Given the description of an element on the screen output the (x, y) to click on. 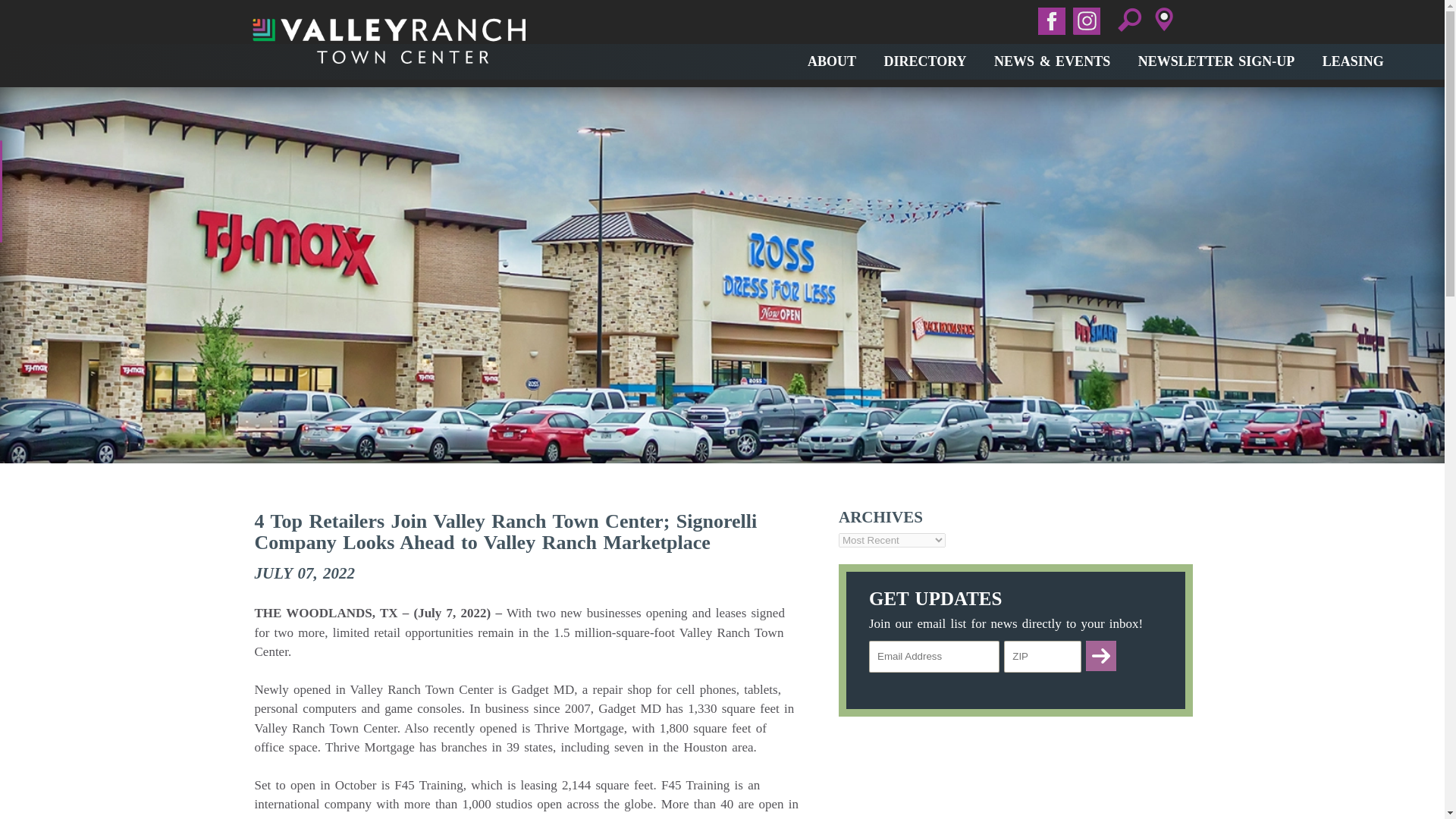
NEWSLETTER SIGN-UP (1204, 61)
LEASING (1341, 61)
ABOUT (820, 61)
DIRECTORY (914, 61)
